Given the description of an element on the screen output the (x, y) to click on. 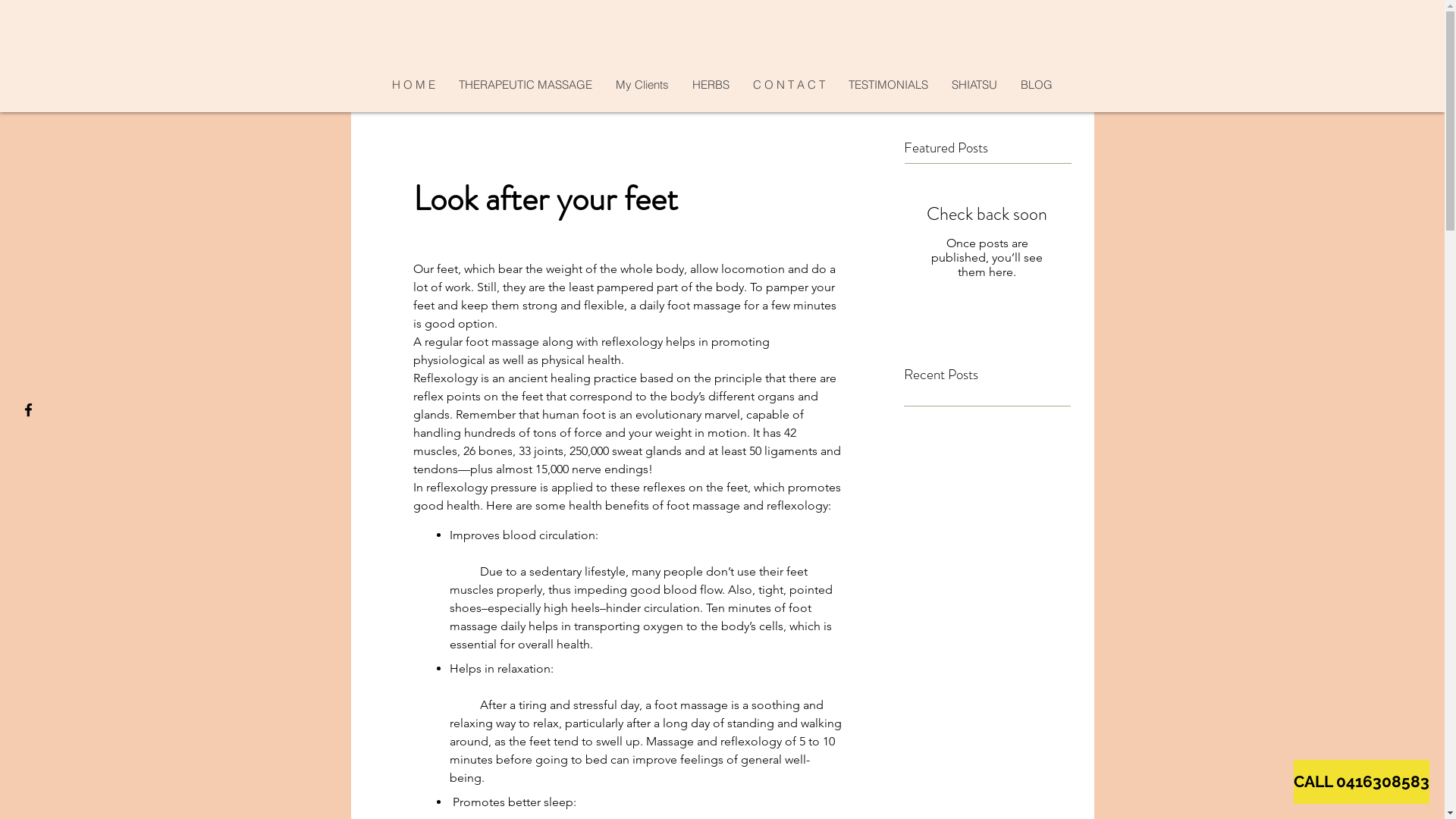
BLOG Element type: text (1035, 84)
TESTIMONIALS Element type: text (887, 84)
HERBS Element type: text (710, 84)
THERAPEUTIC MASSAGE Element type: text (524, 84)
C O N T A C T Element type: text (788, 84)
My Clients Element type: text (641, 84)
H O M E Element type: text (412, 84)
CALL 0416308583 Element type: text (1361, 781)
SHIATSU Element type: text (973, 84)
